Given the description of an element on the screen output the (x, y) to click on. 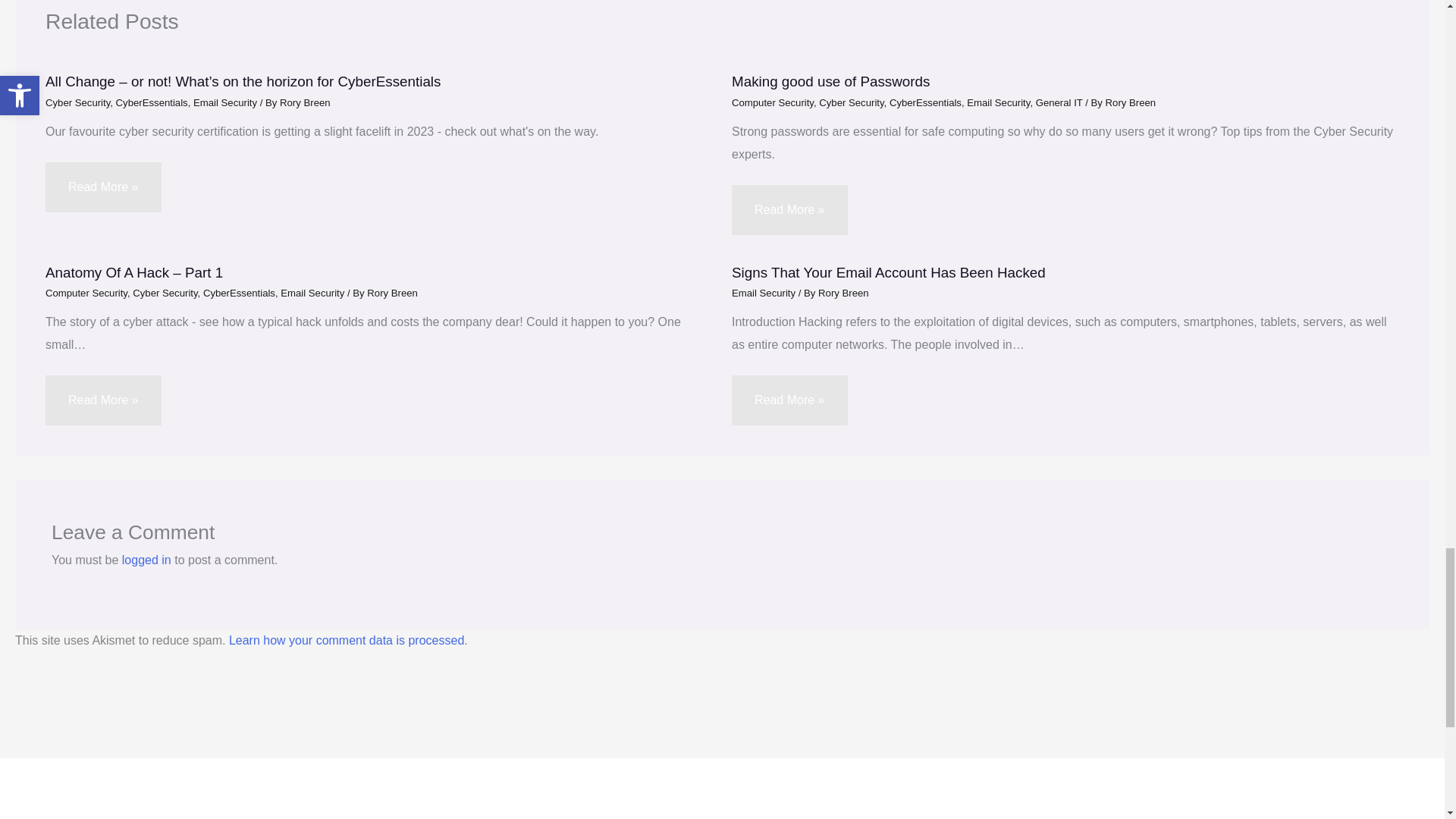
View all posts by Rory Breen (843, 292)
View all posts by Rory Breen (391, 292)
View all posts by Rory Breen (1130, 102)
View all posts by Rory Breen (304, 102)
